Given the description of an element on the screen output the (x, y) to click on. 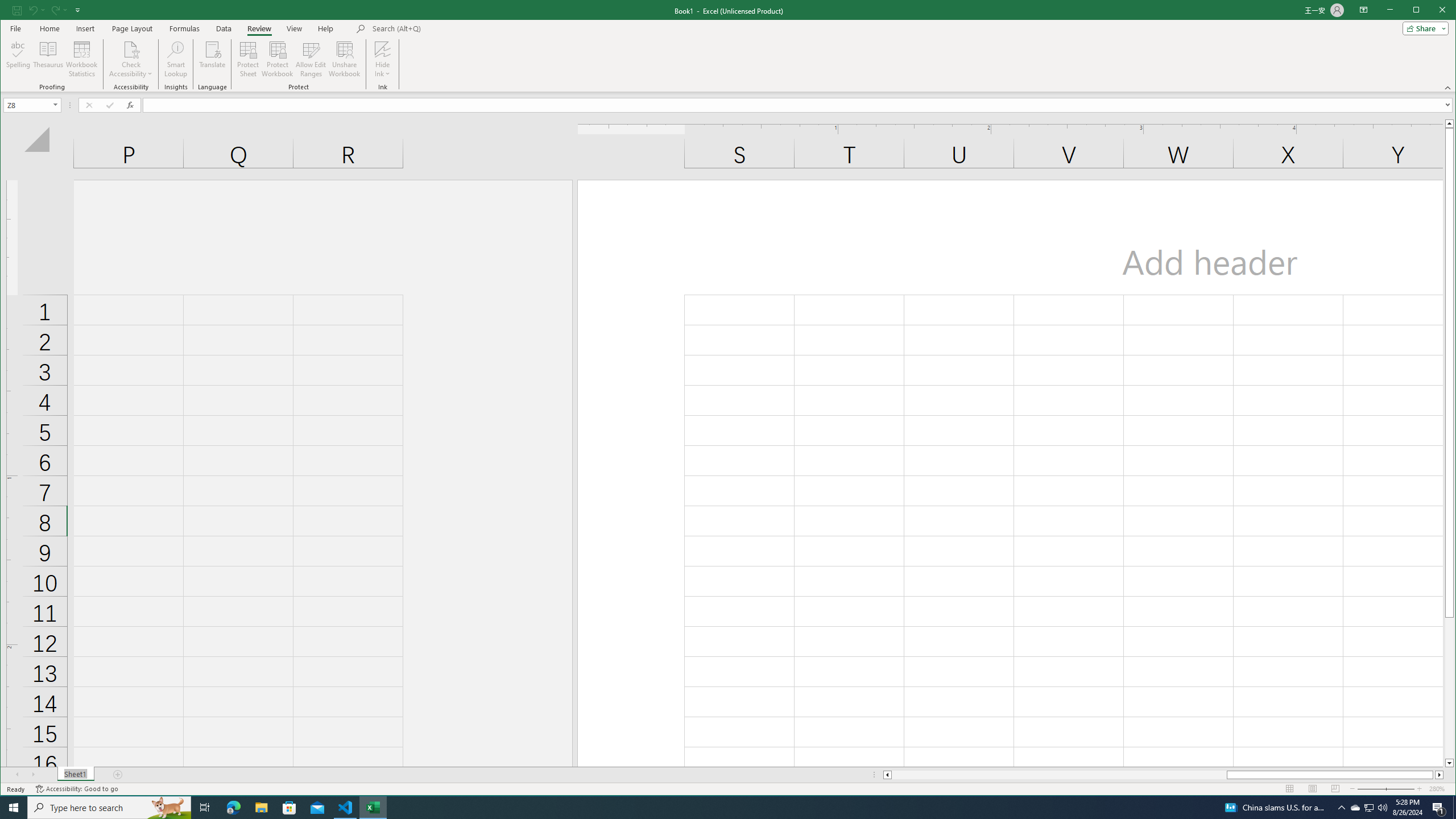
Notification Chevron (1341, 807)
